Given the description of an element on the screen output the (x, y) to click on. 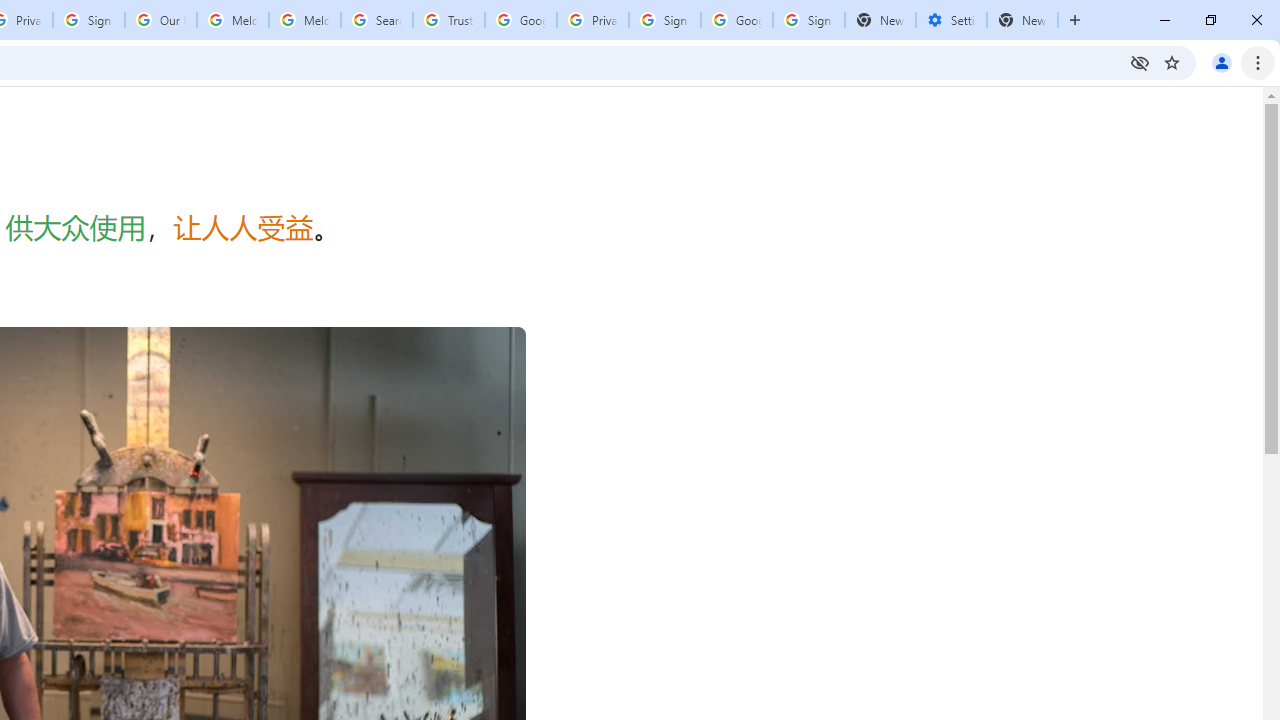
New Tab (1022, 20)
Sign in - Google Accounts (808, 20)
Sign in - Google Accounts (88, 20)
Google Ads - Sign in (520, 20)
Google Cybersecurity Innovations - Google Safety Center (737, 20)
Sign in - Google Accounts (664, 20)
